Given the description of an element on the screen output the (x, y) to click on. 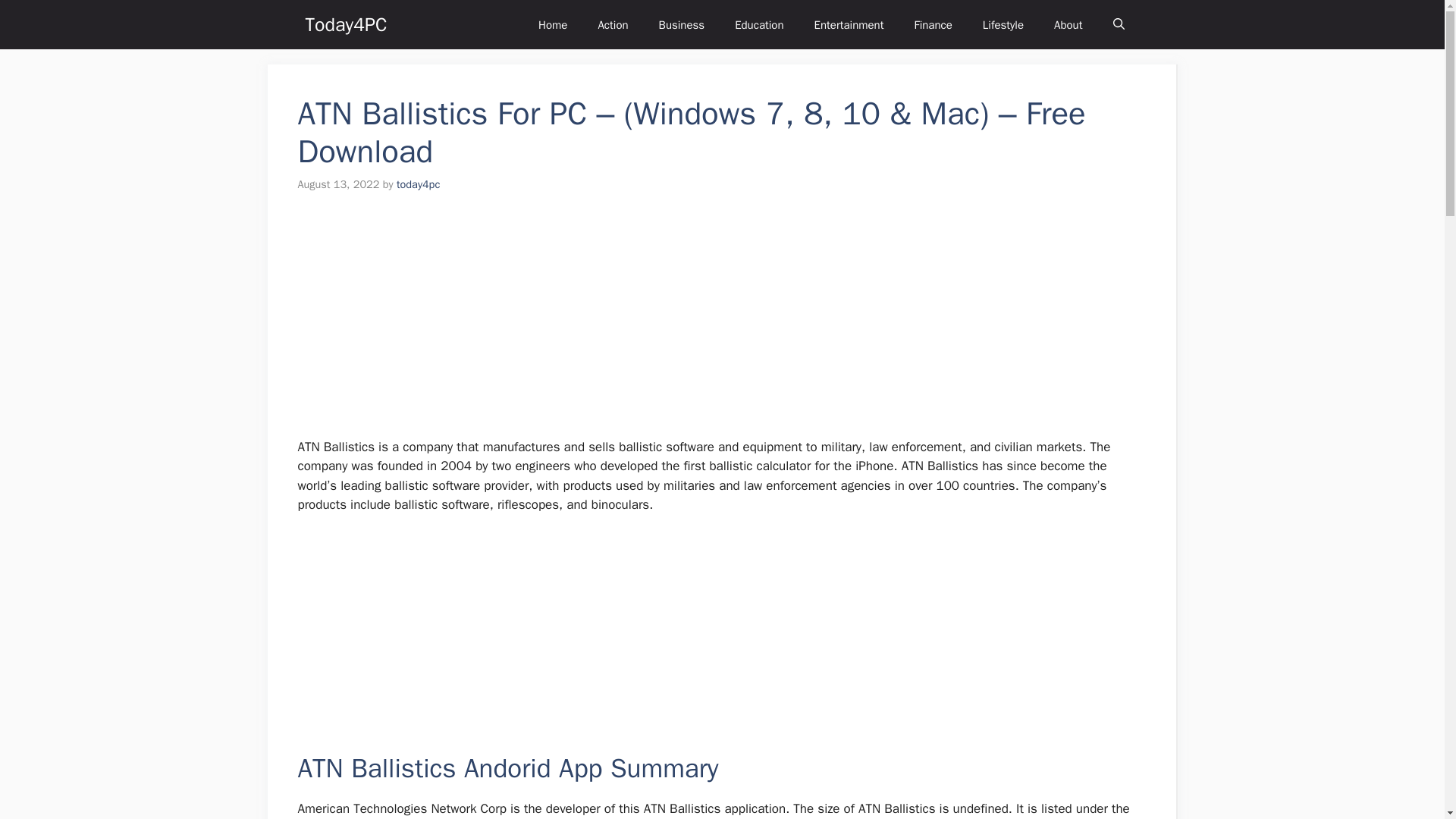
Finance (932, 23)
Business (681, 23)
Entertainment (849, 23)
Education (758, 23)
About (1068, 23)
Lifestyle (1003, 23)
View all posts by today4pc (417, 183)
today4pc (417, 183)
Home (552, 23)
Today4PC (345, 24)
Action (612, 23)
